Given the description of an element on the screen output the (x, y) to click on. 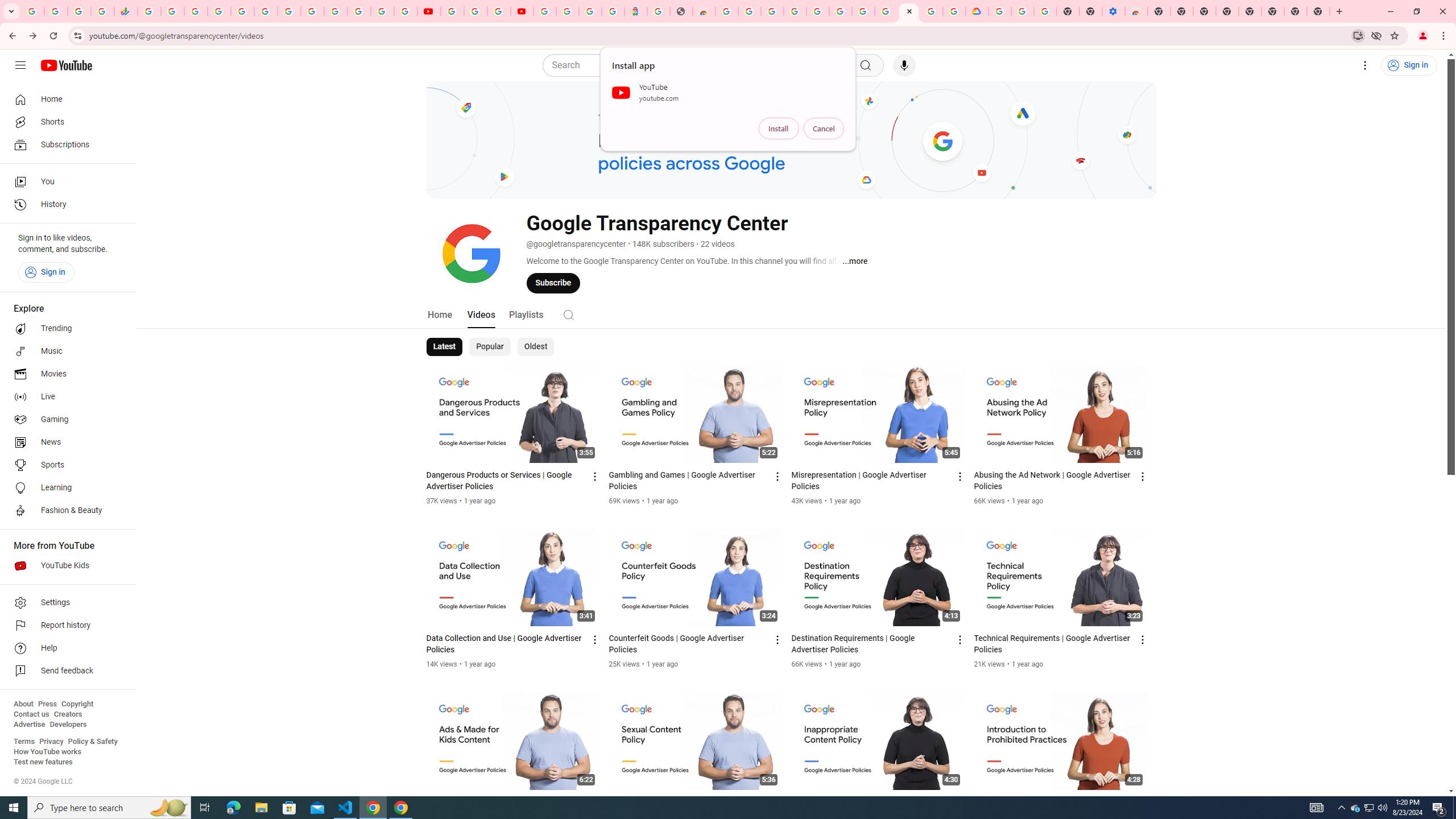
Guide (20, 65)
